Given the description of an element on the screen output the (x, y) to click on. 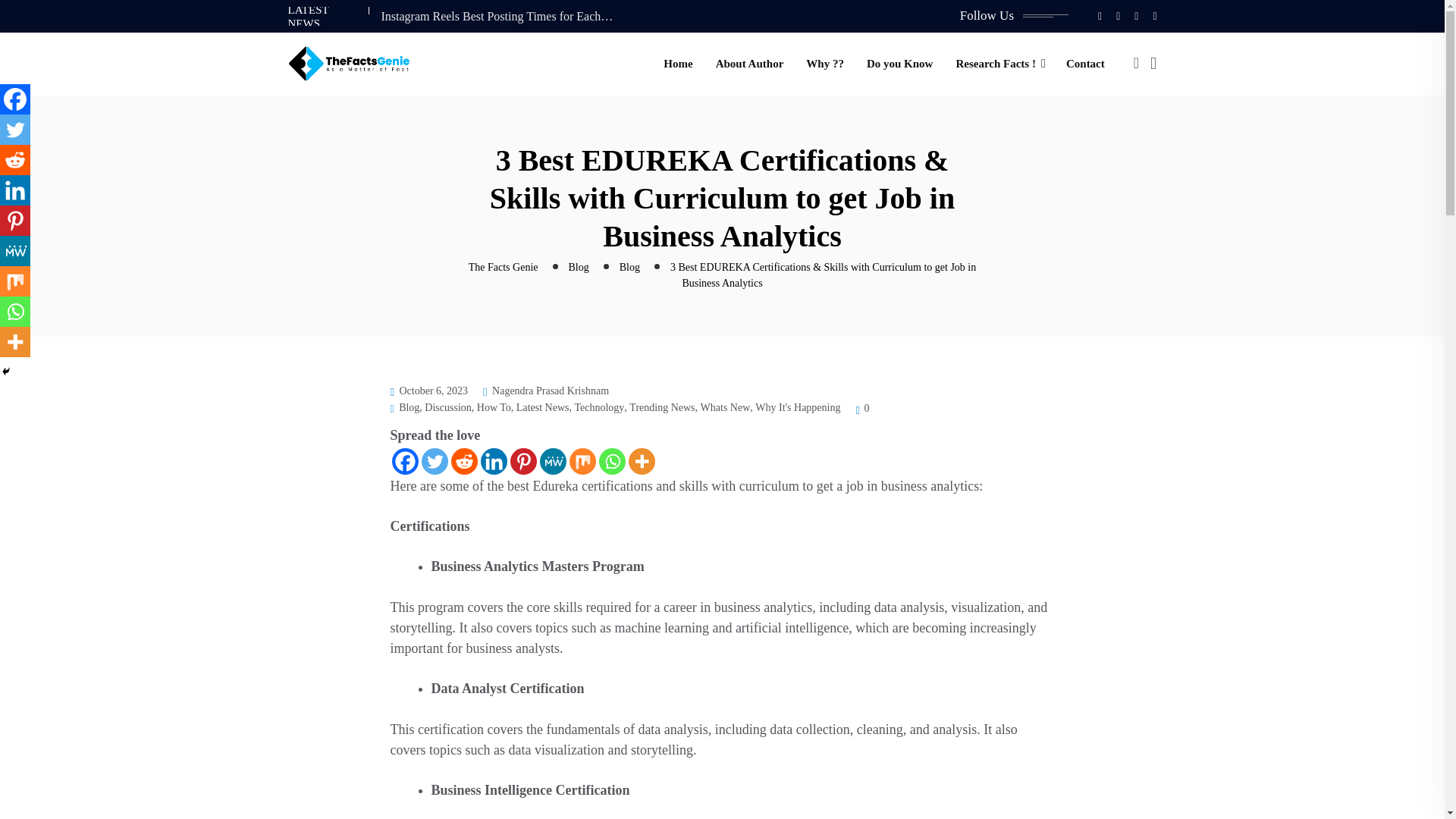
Go to the Blog Category archives. (630, 266)
Linkedin (15, 190)
Facebook (404, 461)
Reddit (15, 159)
Mix (582, 461)
Why ?? (824, 63)
Pinterest (522, 461)
Twitter (435, 461)
Research Facts ! (994, 63)
Go to The Facts Genie. (503, 266)
Do you Know (900, 63)
Facebook (15, 99)
Go to Blog. (579, 266)
Whatsapp (612, 461)
Home (677, 63)
